Given the description of an element on the screen output the (x, y) to click on. 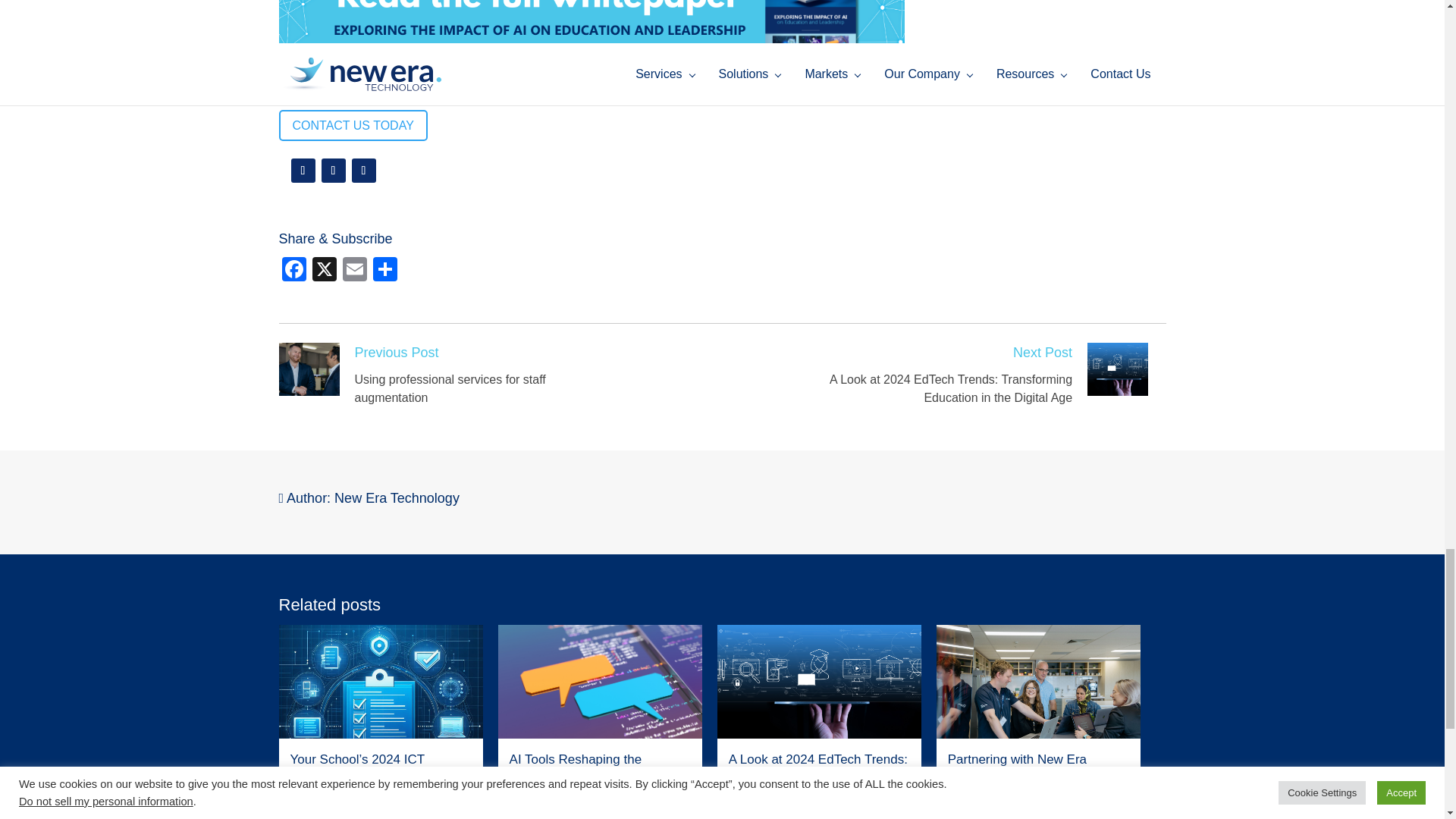
Facebook (293, 271)
Follow on Twitter (333, 170)
Email (354, 271)
Follow on Facebook (303, 170)
Follow on LinkedIn (363, 170)
AI Tools Reshaping the Landscape of Education (599, 710)
X (323, 271)
